Given the description of an element on the screen output the (x, y) to click on. 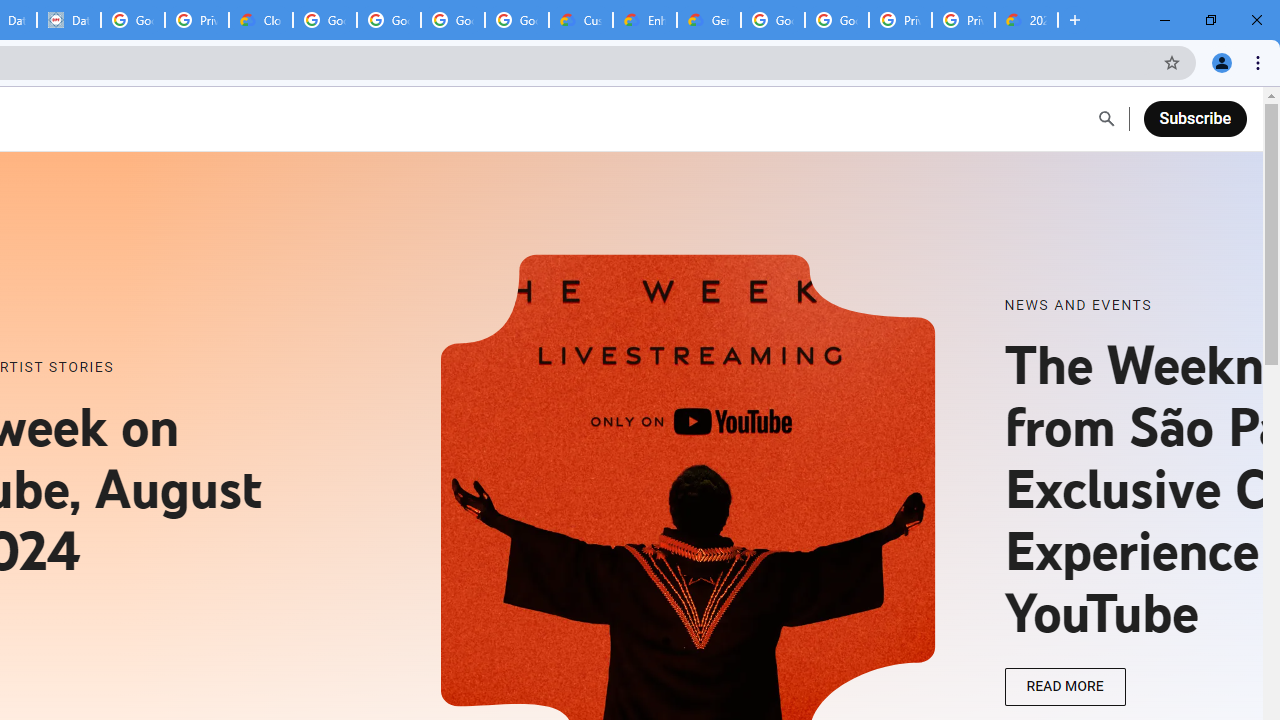
Google Cloud Platform (773, 20)
Customer Care | Google Cloud (581, 20)
Cloud Data Processing Addendum | Google Cloud (261, 20)
Gemini for Business and Developers | Google Cloud (709, 20)
Subscribe (1194, 118)
Google Cloud Platform (837, 20)
